Given the description of an element on the screen output the (x, y) to click on. 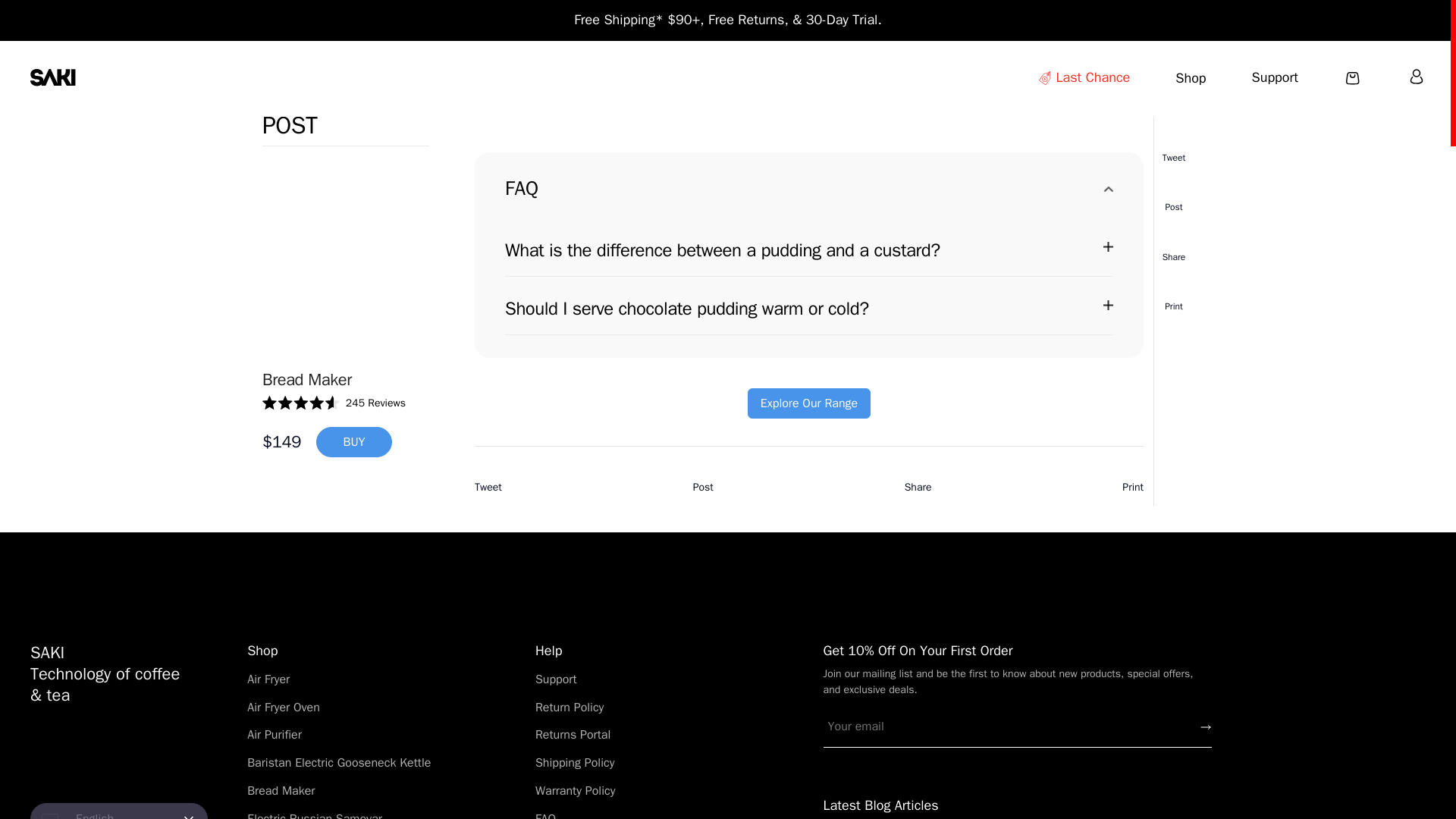
Air Purifier (274, 734)
Bread Maker (280, 790)
Electric Russian Samovar (314, 815)
Air Fryer Oven (283, 707)
Baristan Electric Gooseneck Kettle (338, 762)
SAKI on Youtube (173, 753)
Air Fryer (268, 679)
SAKI on Facebook (39, 754)
SAKI on Instagram (125, 754)
